Given the description of an element on the screen output the (x, y) to click on. 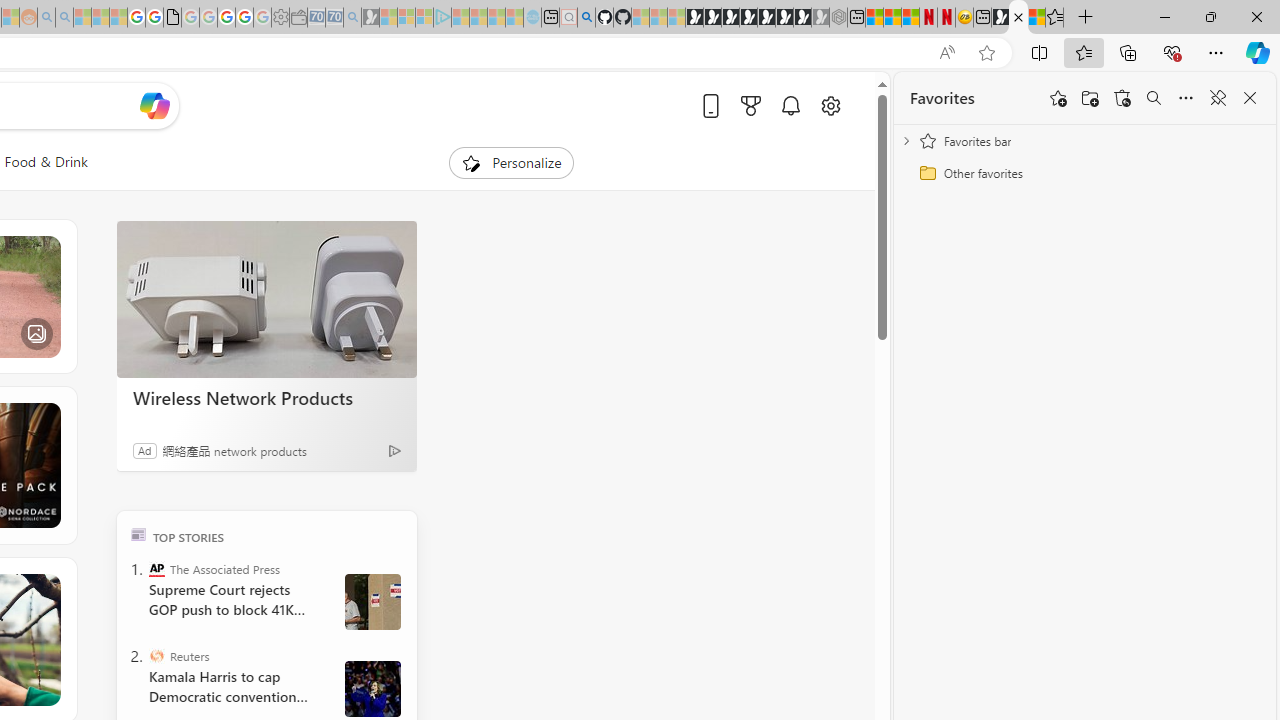
Add folder (1089, 98)
github - Search (586, 17)
TOP (138, 534)
